Given the description of an element on the screen output the (x, y) to click on. 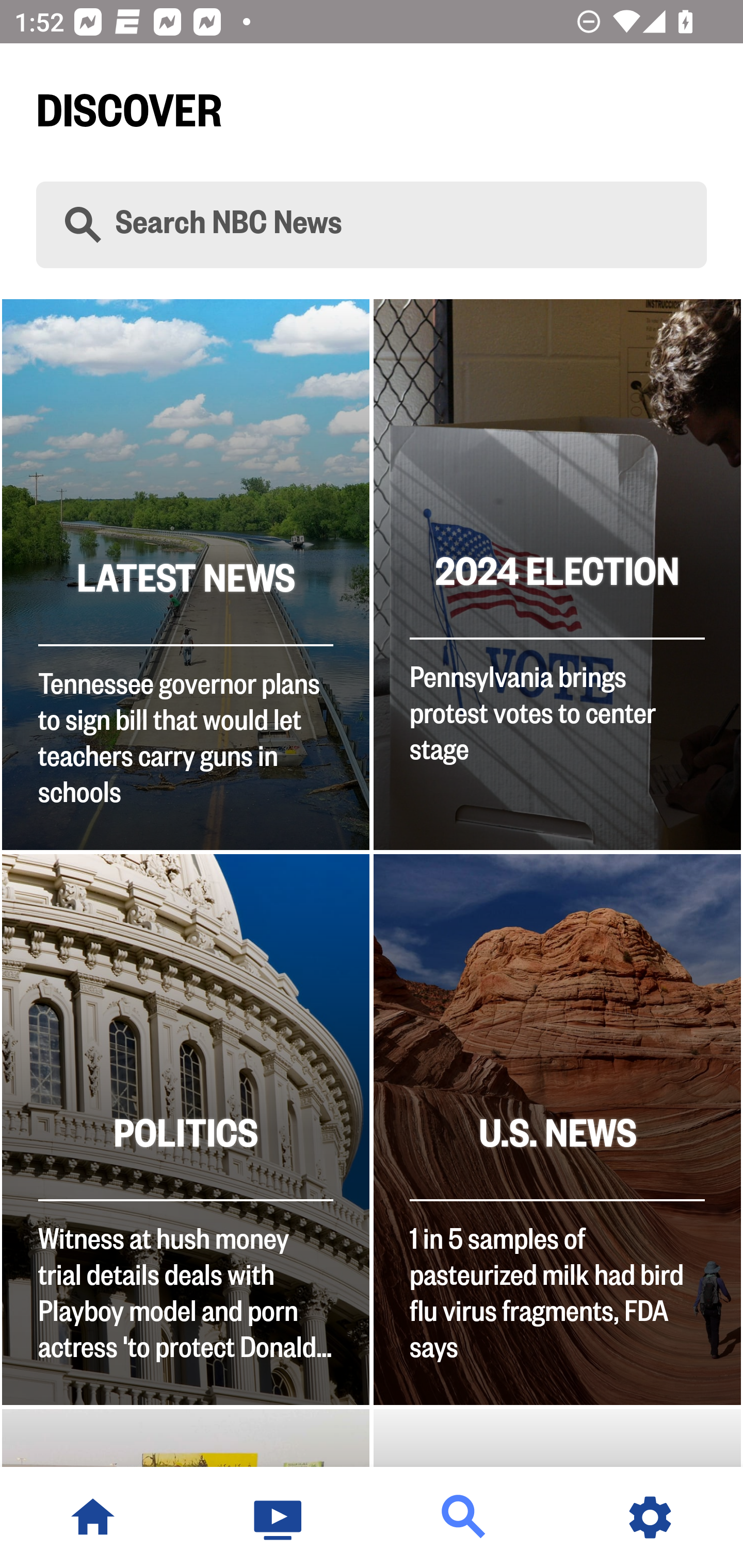
NBC News Home (92, 1517)
Watch (278, 1517)
Settings (650, 1517)
